Given the description of an element on the screen output the (x, y) to click on. 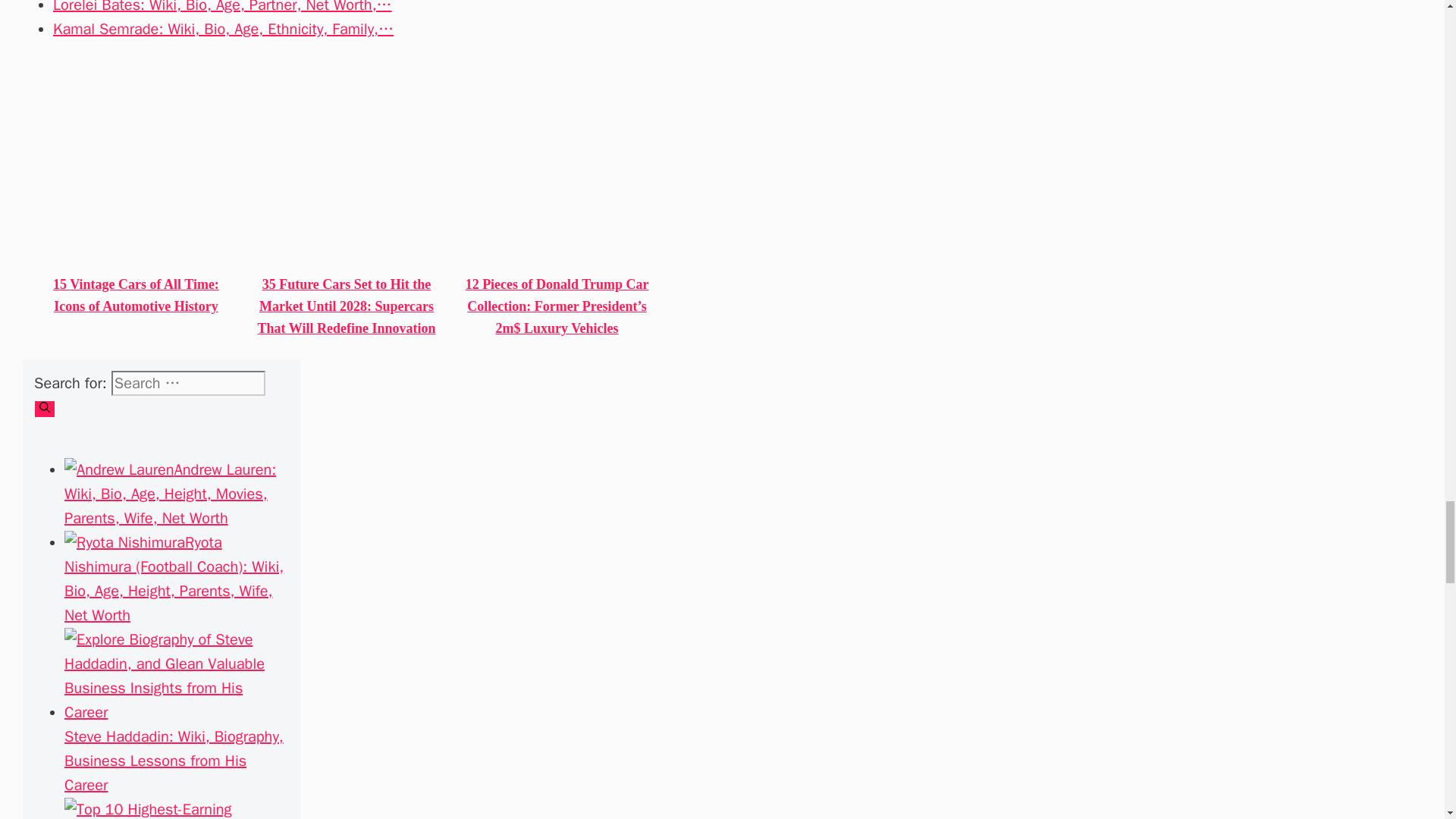
Search for: (188, 383)
